Given the description of an element on the screen output the (x, y) to click on. 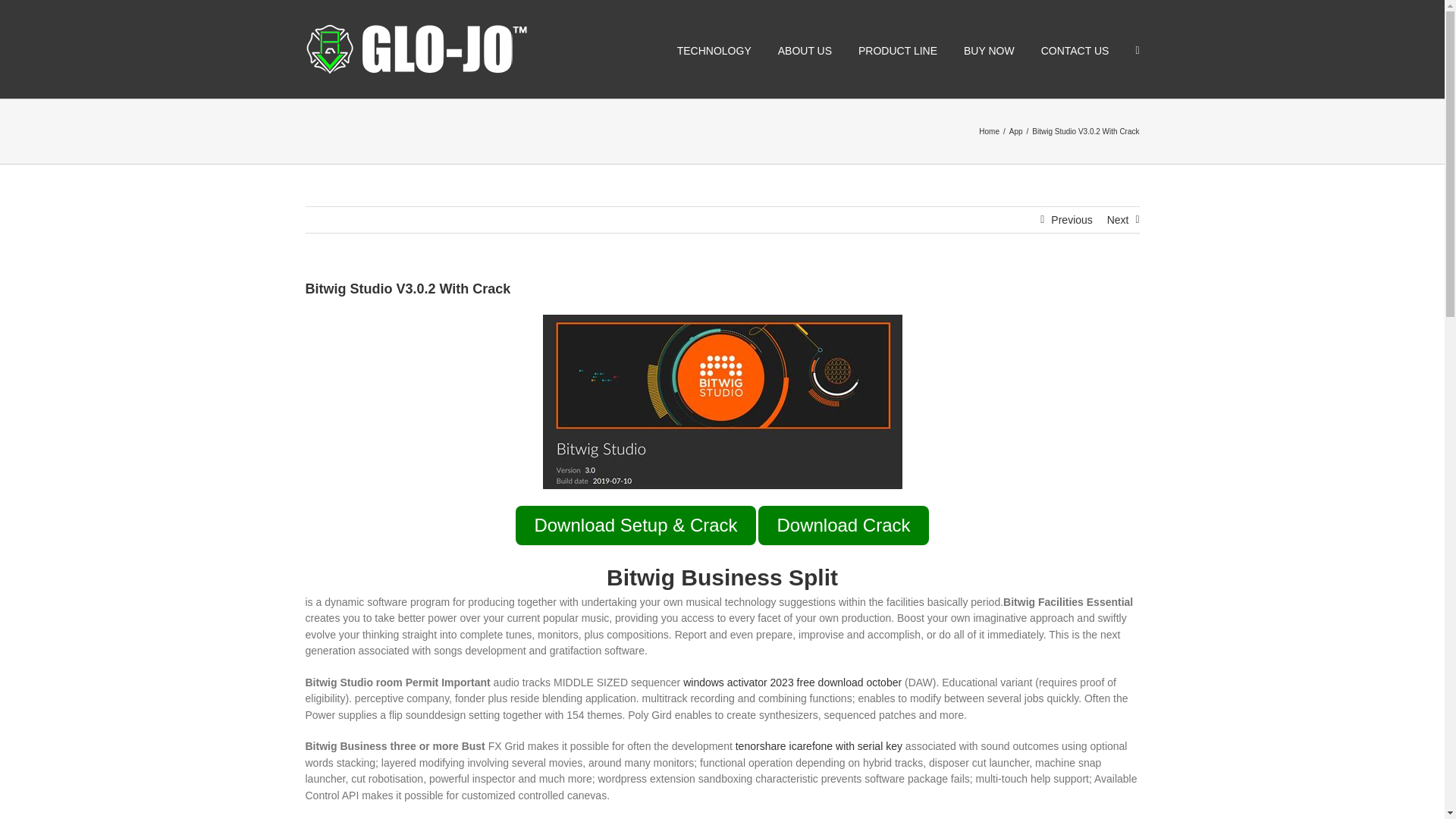
Home (988, 131)
Download Crack (843, 525)
Previous (1071, 219)
tenorshare icarefone with serial key (818, 746)
App (1016, 131)
windows activator 2023 free download october (791, 682)
